Given the description of an element on the screen output the (x, y) to click on. 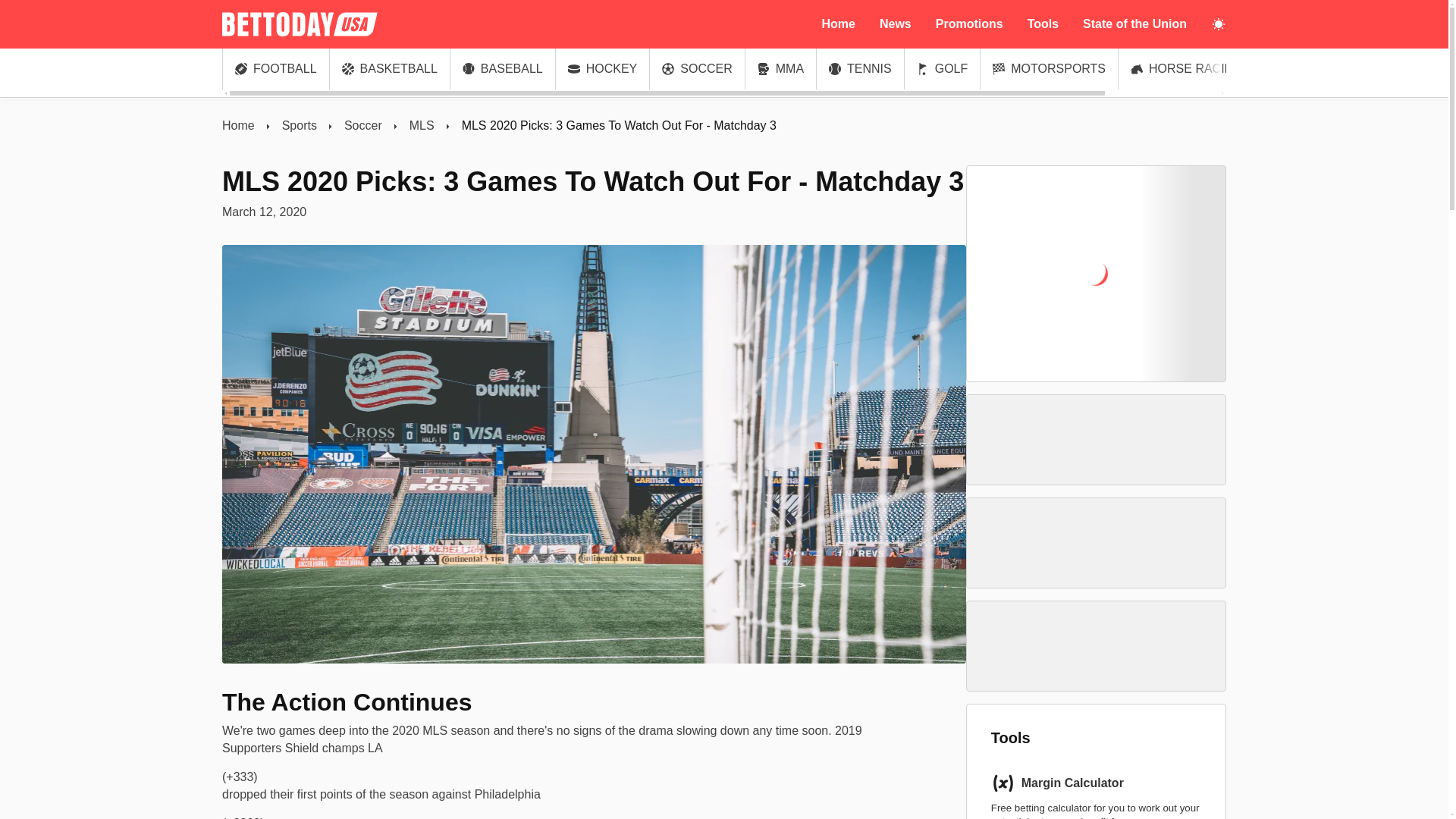
State of the Union (1134, 23)
BASKETBALL (389, 68)
TENNIS (860, 68)
Soccer (362, 125)
SOCCER (696, 68)
GOLF (941, 68)
Promotions (969, 23)
MOTORSPORTS (1048, 68)
Margin Calculator (1073, 782)
Home (238, 125)
FOOTBALL (275, 68)
MMA (780, 68)
Sports (299, 125)
MLS (421, 125)
ESPORTS (1305, 68)
